Given the description of an element on the screen output the (x, y) to click on. 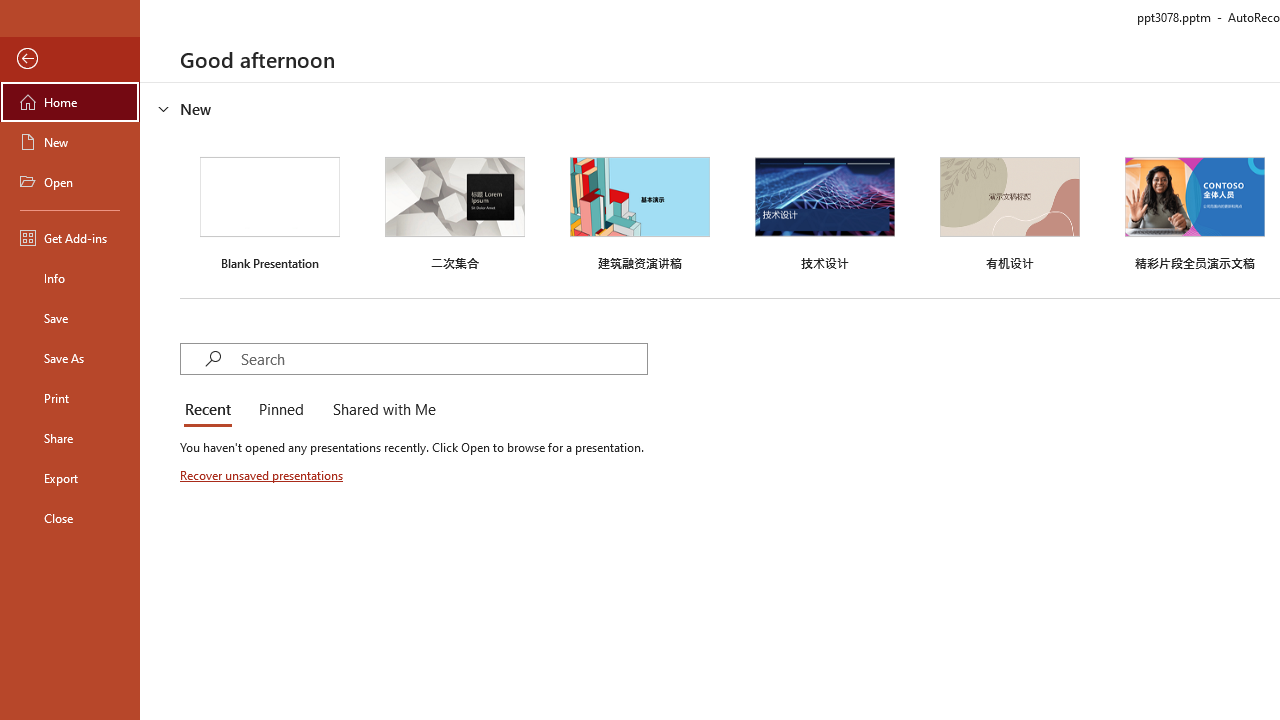
Back (69, 59)
Save As (69, 357)
Print (69, 398)
Blank Presentation (269, 211)
New (69, 141)
